Given the description of an element on the screen output the (x, y) to click on. 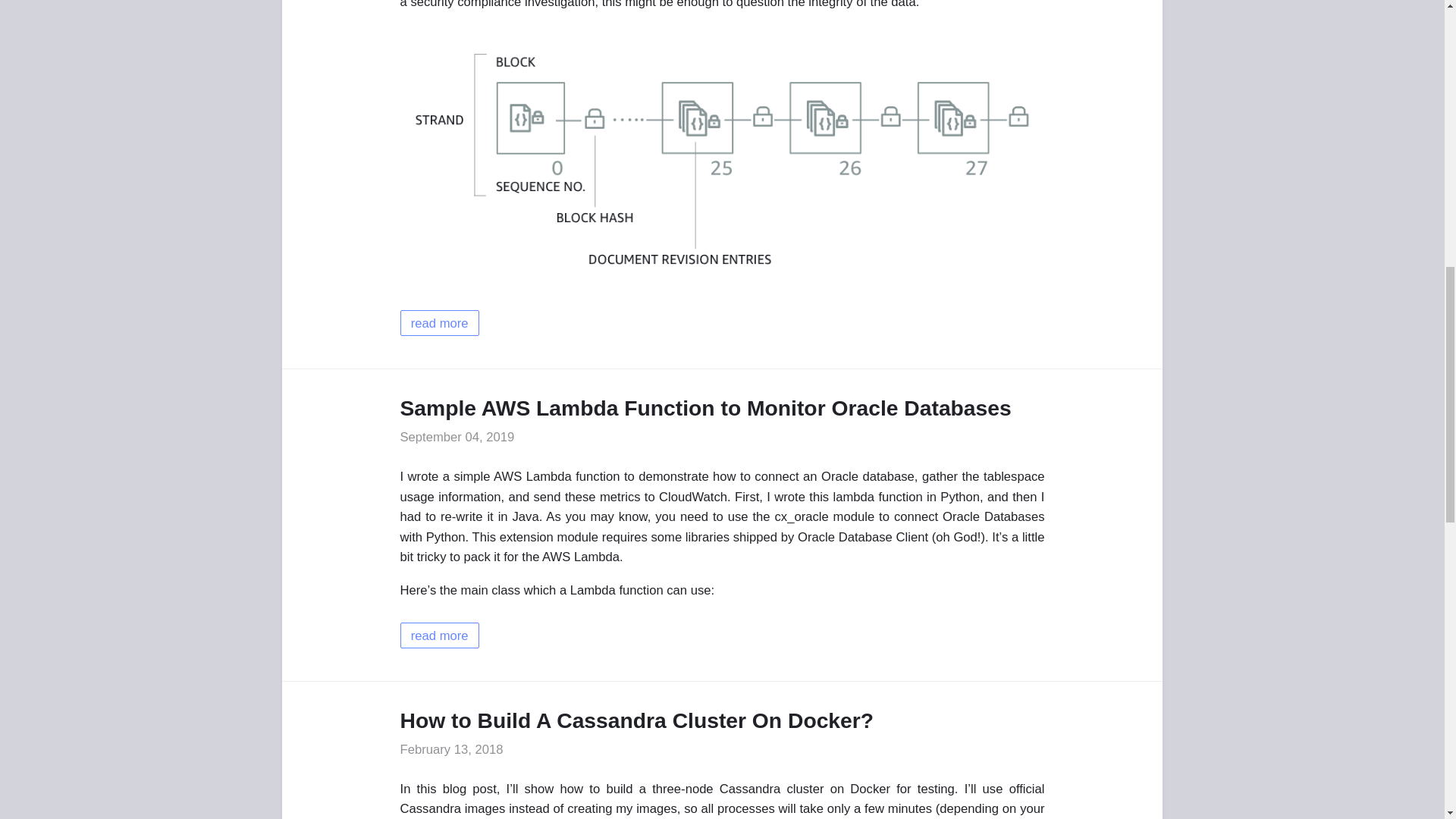
read more (439, 635)
read more (439, 322)
How to Build A Cassandra Cluster On Docker? (637, 720)
